Given the description of an element on the screen output the (x, y) to click on. 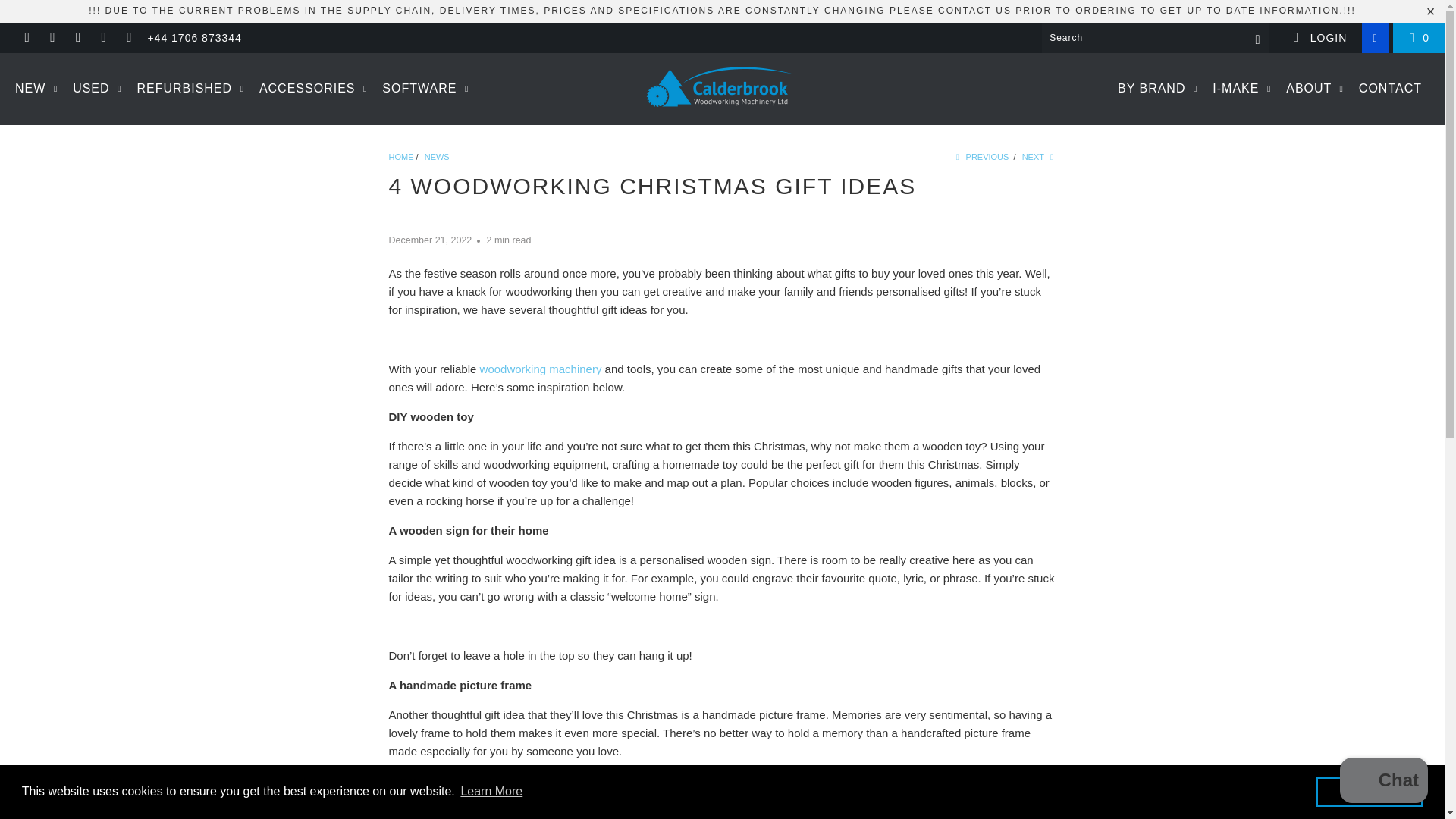
Calderbrook on Twitter (25, 37)
Calderbrook on Facebook (52, 37)
Email Calderbrook (128, 37)
Got it! (1369, 791)
Calderbrook on Instagram (76, 37)
Learn More (491, 791)
My Account  (1319, 37)
Calderbrook on LinkedIn (103, 37)
Calderbrook (722, 88)
News (437, 156)
Calderbrook (400, 156)
